Given the description of an element on the screen output the (x, y) to click on. 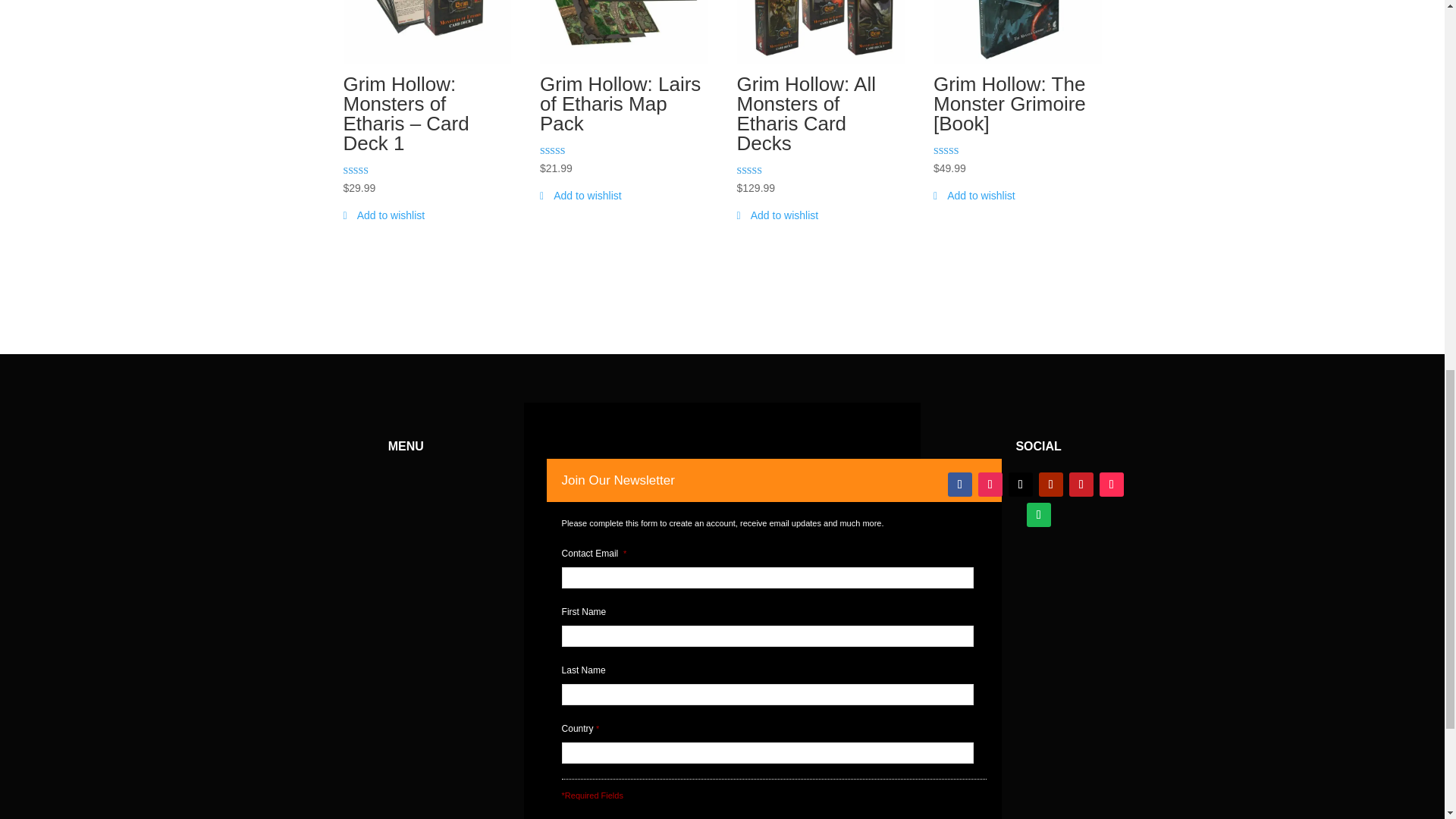
Follow on X (1020, 484)
Follow on Facebook (959, 484)
Follow on Youtube (1050, 484)
Follow on TikTok (1111, 484)
Follow on Instagram (990, 484)
Follow on Pinterest (1080, 484)
Follow on Spotify (1038, 514)
